Given the description of an element on the screen output the (x, y) to click on. 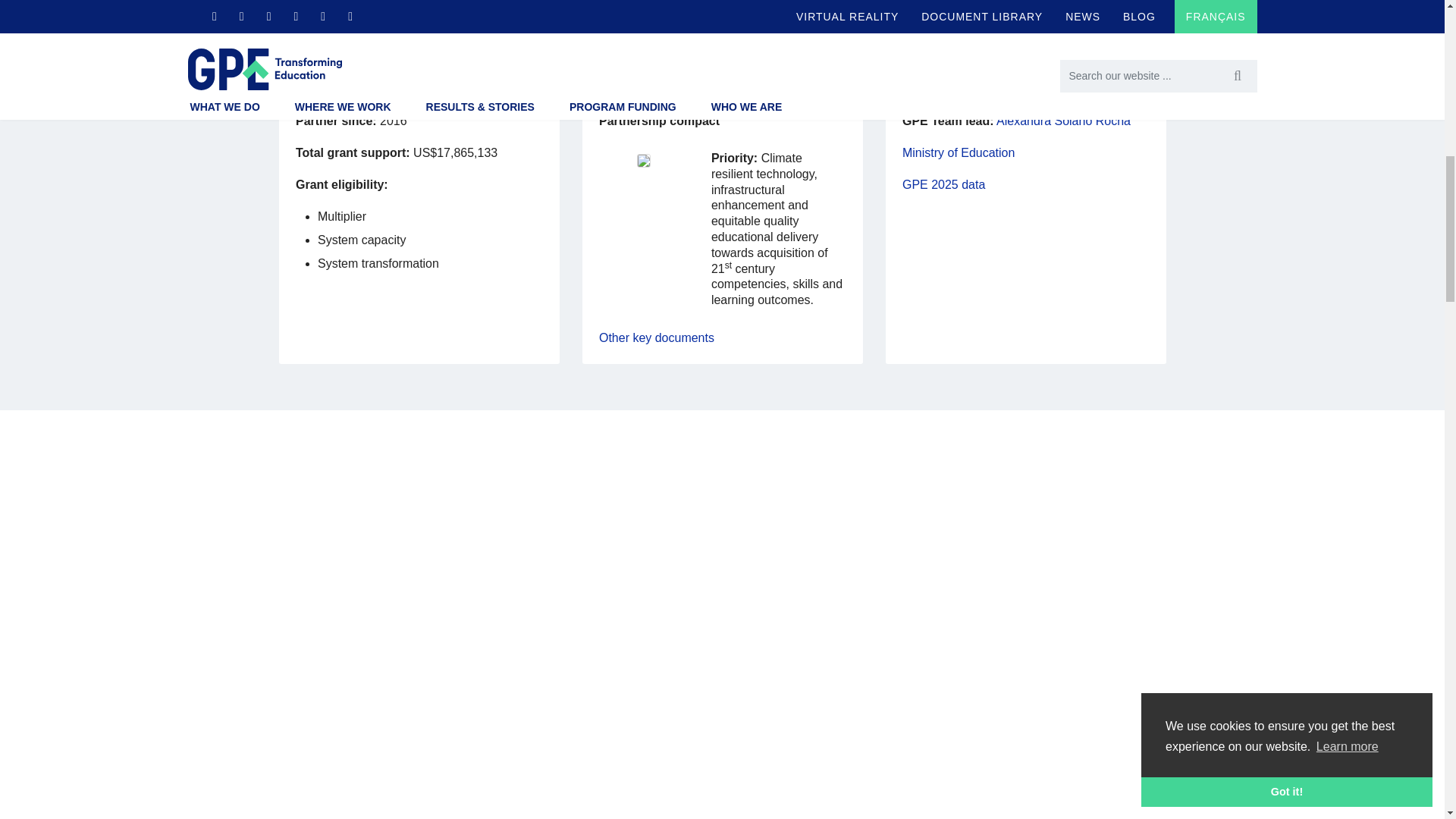
Alexandra Solano Rocha (1063, 120)
